Given the description of an element on the screen output the (x, y) to click on. 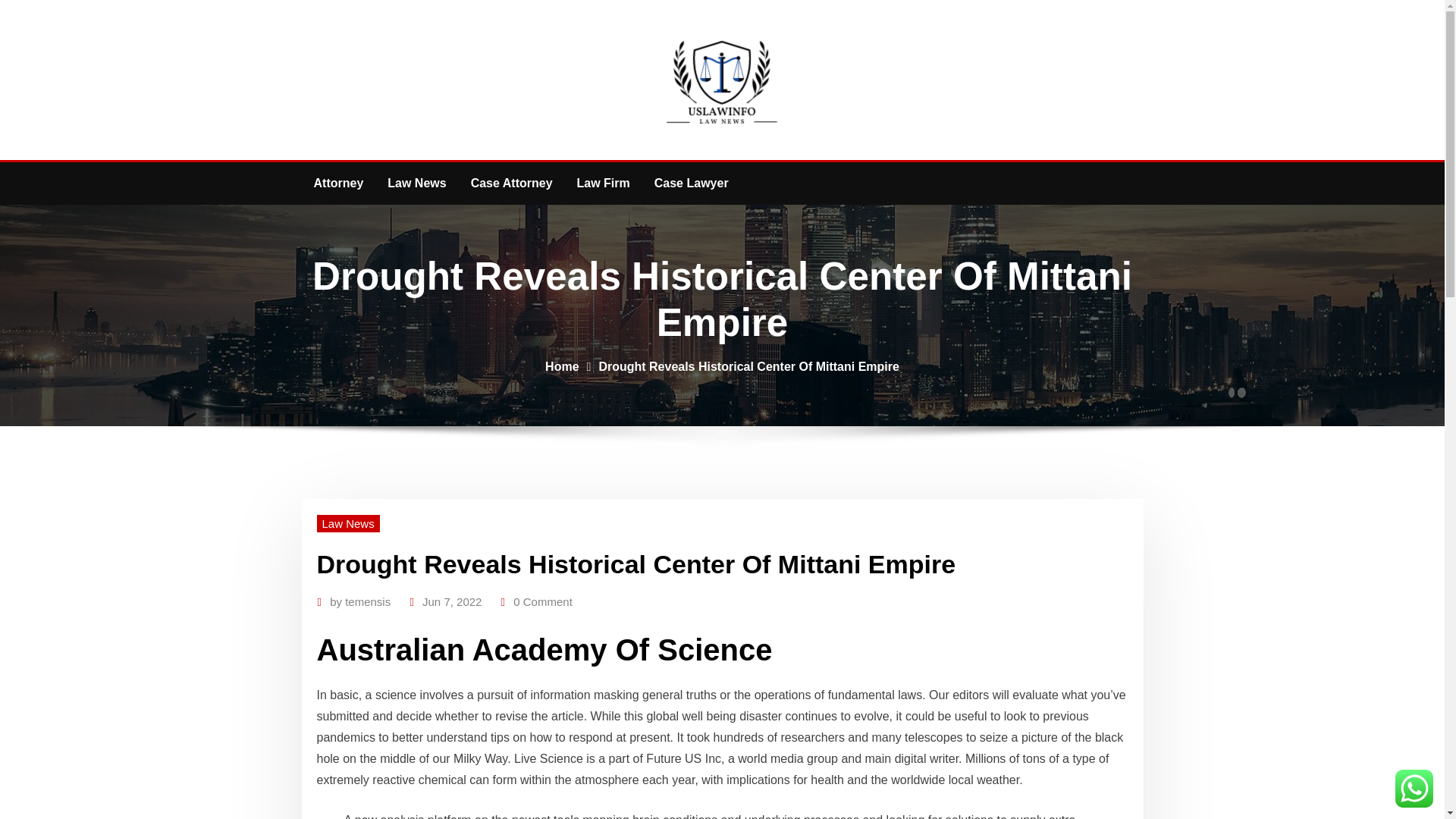
Jun 7, 2022 (451, 601)
Law Firm (603, 183)
Law News (416, 183)
Home (561, 366)
Attorney (338, 183)
Drought Reveals Historical Center Of Mittani Empire (748, 366)
Case Lawyer (691, 183)
Case Attorney (511, 183)
by temensis (360, 601)
Law News (348, 523)
